Given the description of an element on the screen output the (x, y) to click on. 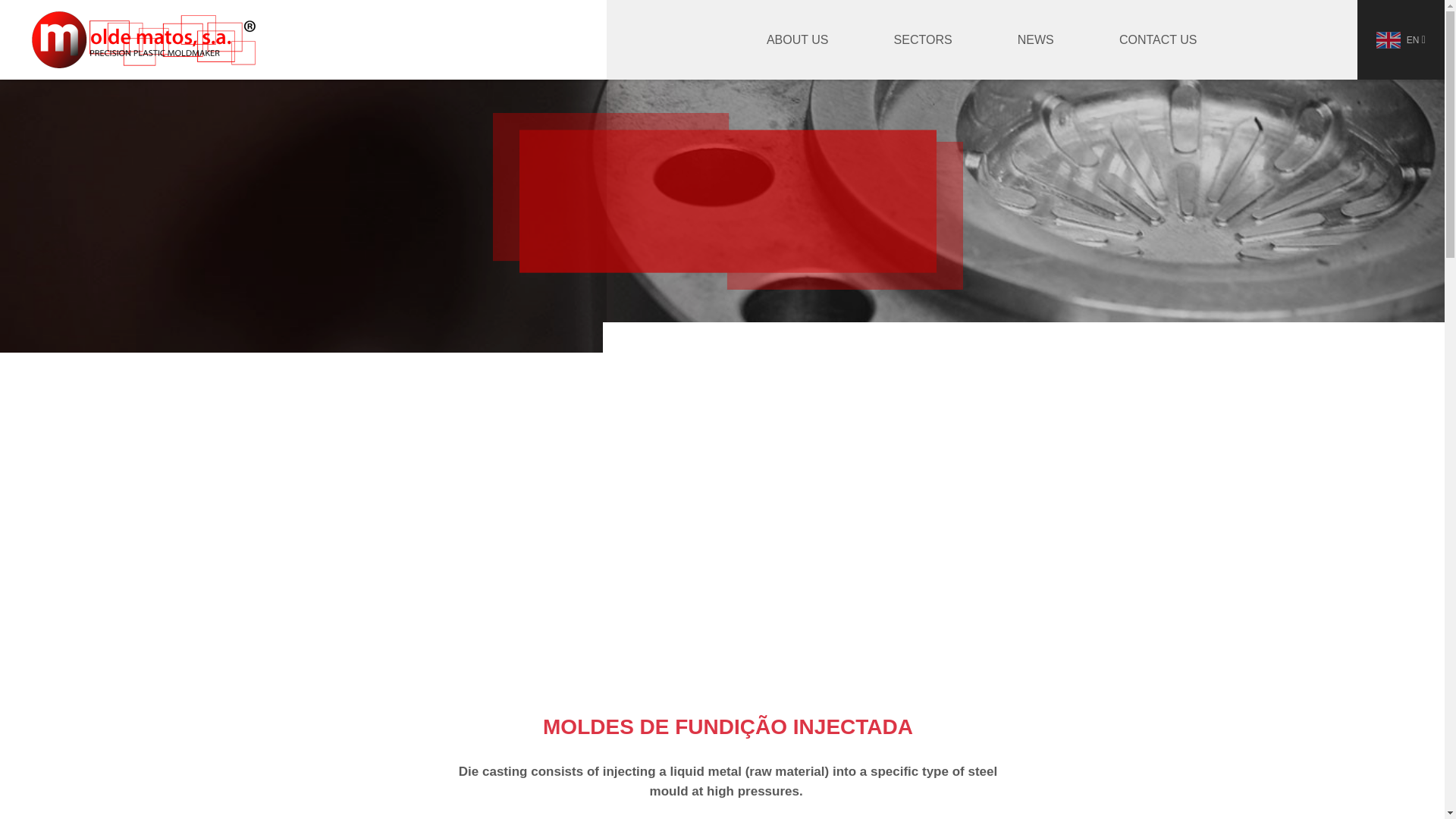
SECTORS (922, 39)
CONTACT US (1157, 39)
NEWS (1035, 39)
ABOUT US (797, 39)
Home (144, 39)
